Given the description of an element on the screen output the (x, y) to click on. 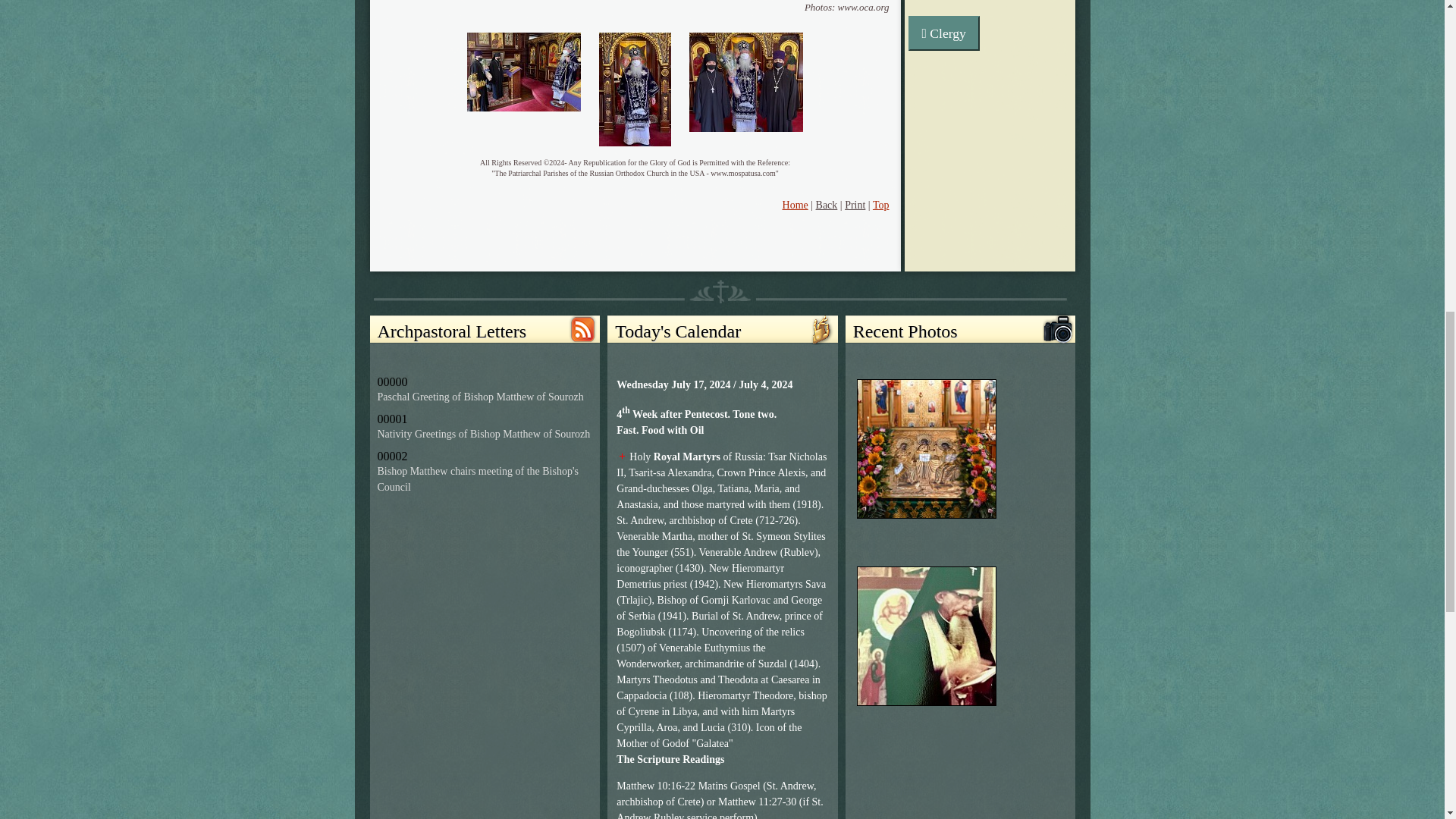
Top (880, 204)
Home (795, 204)
Print (854, 204)
Back (826, 204)
